Given the description of an element on the screen output the (x, y) to click on. 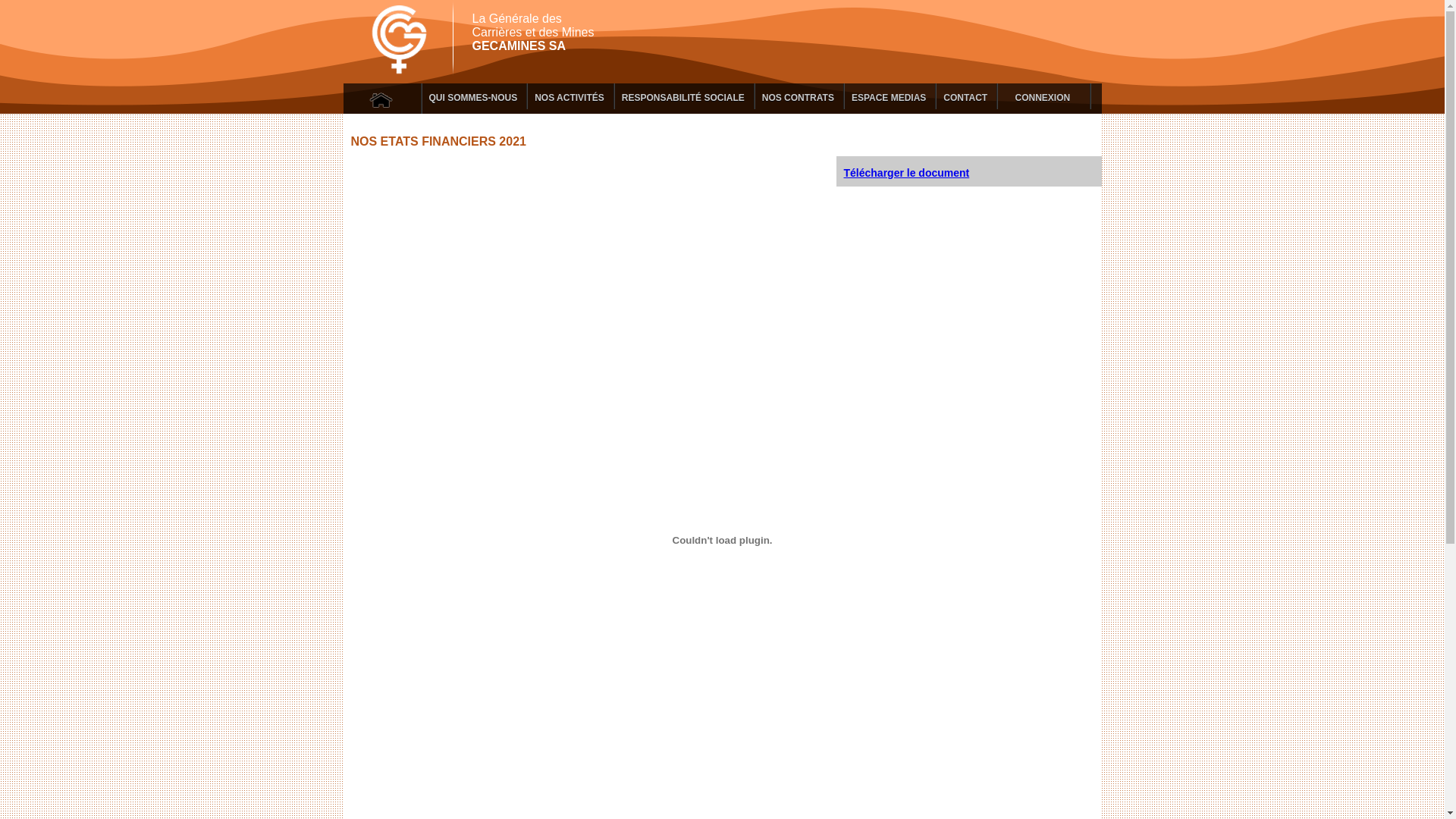
    CONNEXION     Element type: text (1042, 96)
NOS CONTRATS Element type: text (798, 96)
ESPACE MEDIAS Element type: text (889, 96)
CONTACT Element type: text (965, 96)
QUI SOMMES-NOUS Element type: text (474, 96)
